Given the description of an element on the screen output the (x, y) to click on. 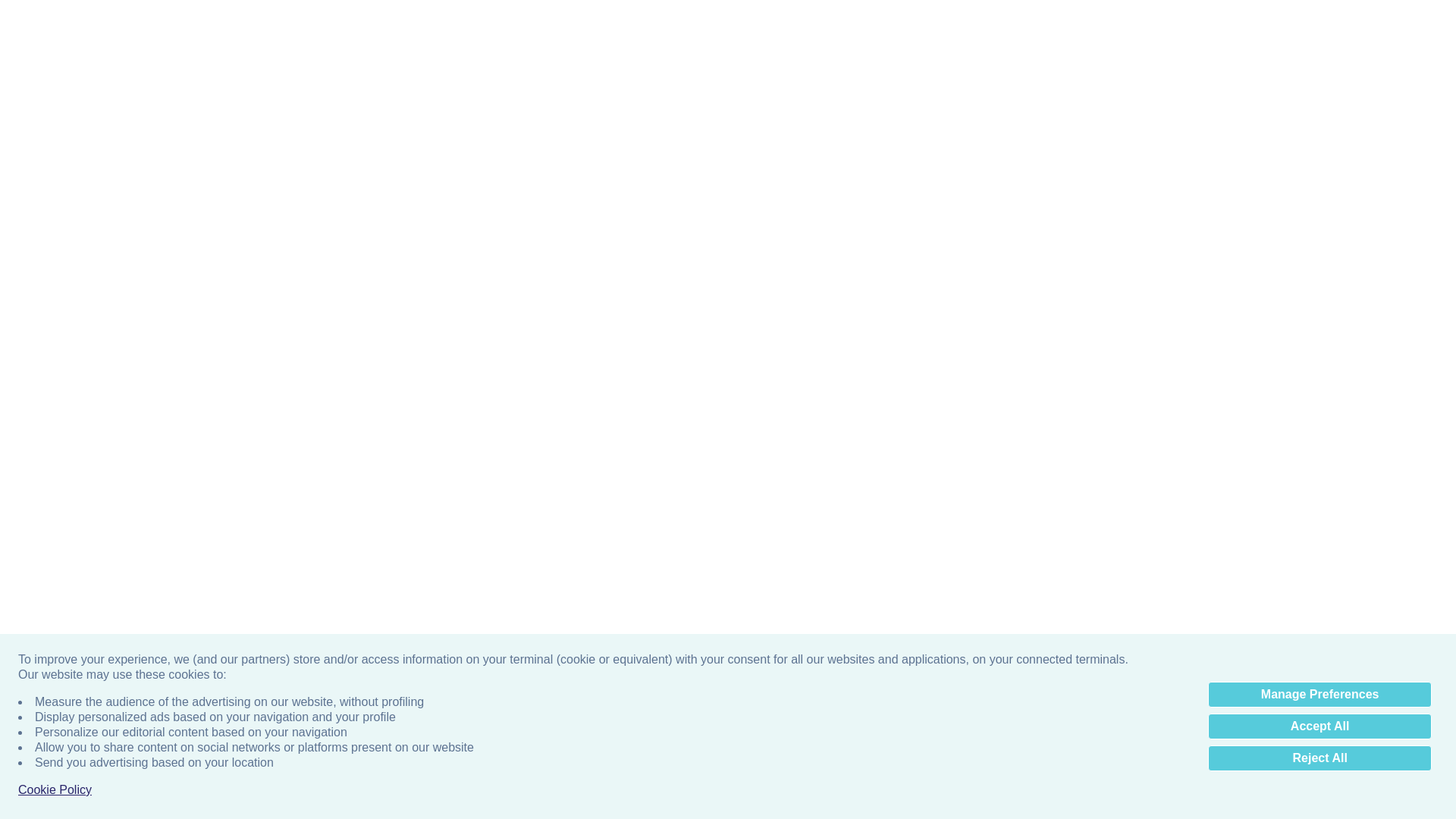
Cookie Policy (54, 483)
3rd party ad content (727, 75)
Manage Preferences (1319, 388)
Reject All (1319, 451)
Accept All (1319, 420)
